Given the description of an element on the screen output the (x, y) to click on. 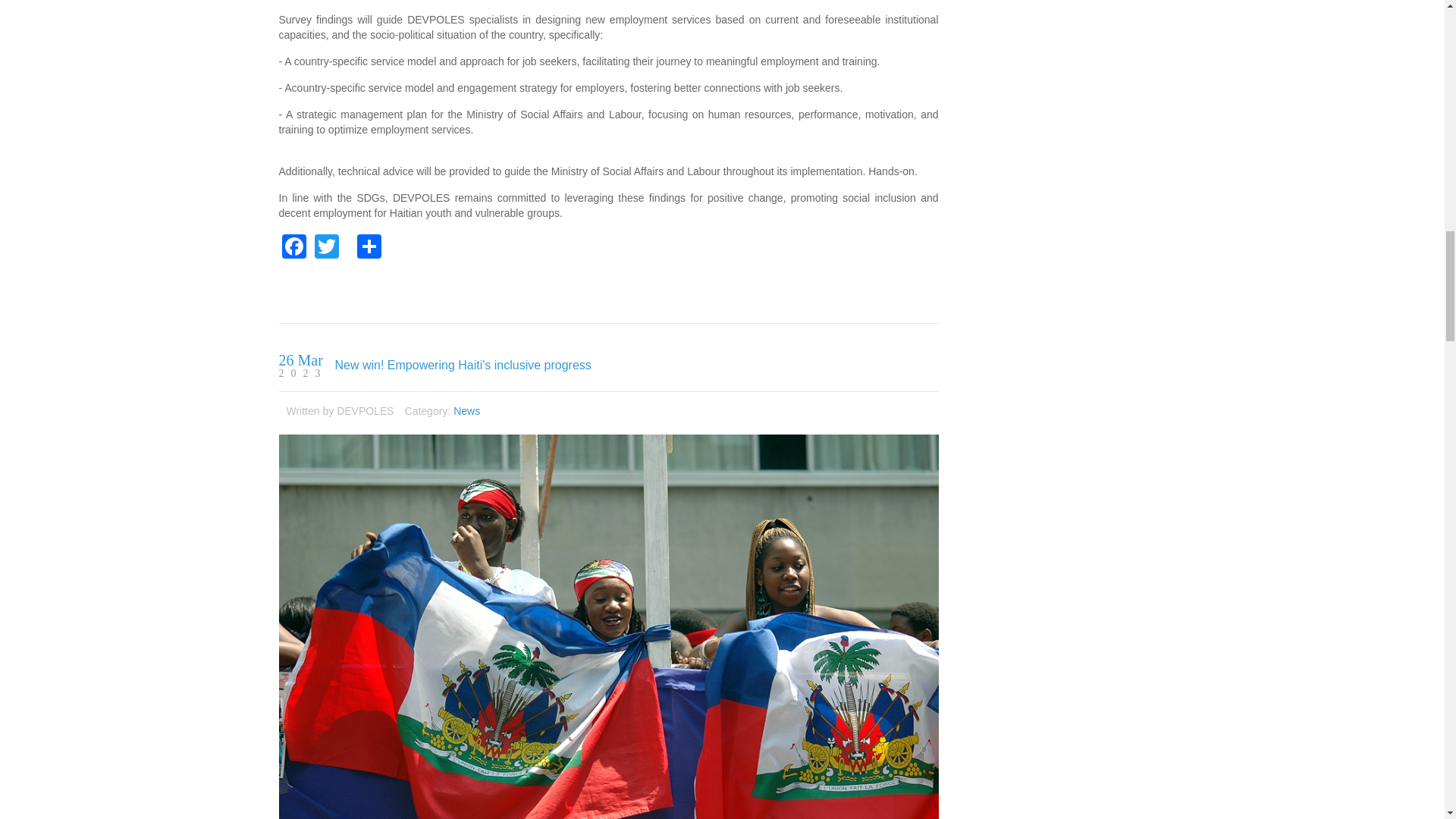
News  (466, 410)
New win! Empowering Haiti's inclusive progress (462, 364)
